Given the description of an element on the screen output the (x, y) to click on. 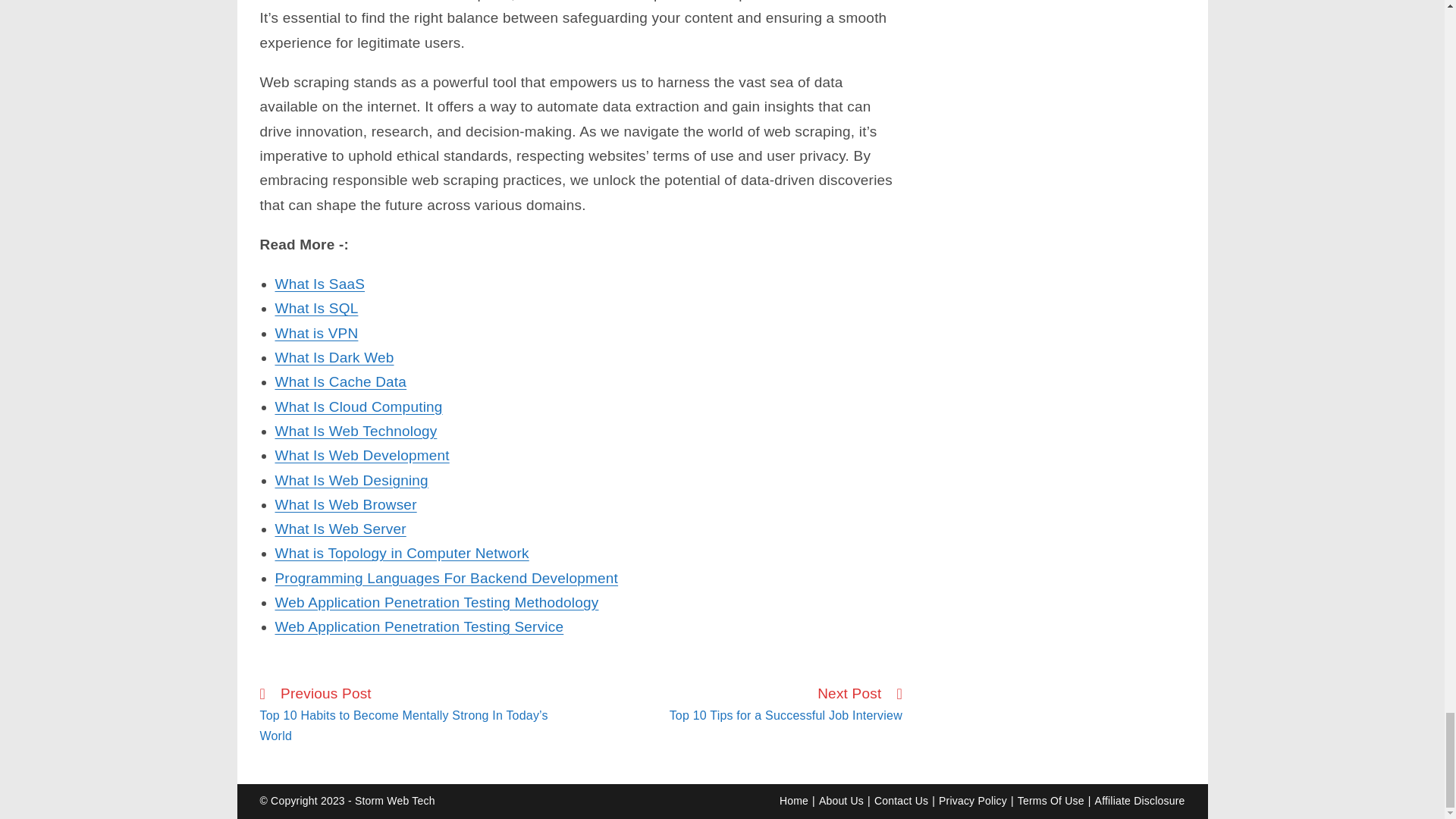
What Is Cache Data (340, 381)
What Is SaaS (320, 283)
What Is SQL (316, 308)
What Is Cloud Computing (358, 406)
What Is Dark Web (334, 357)
What is VPN (316, 333)
What Is Web Technology (355, 430)
